Given the description of an element on the screen output the (x, y) to click on. 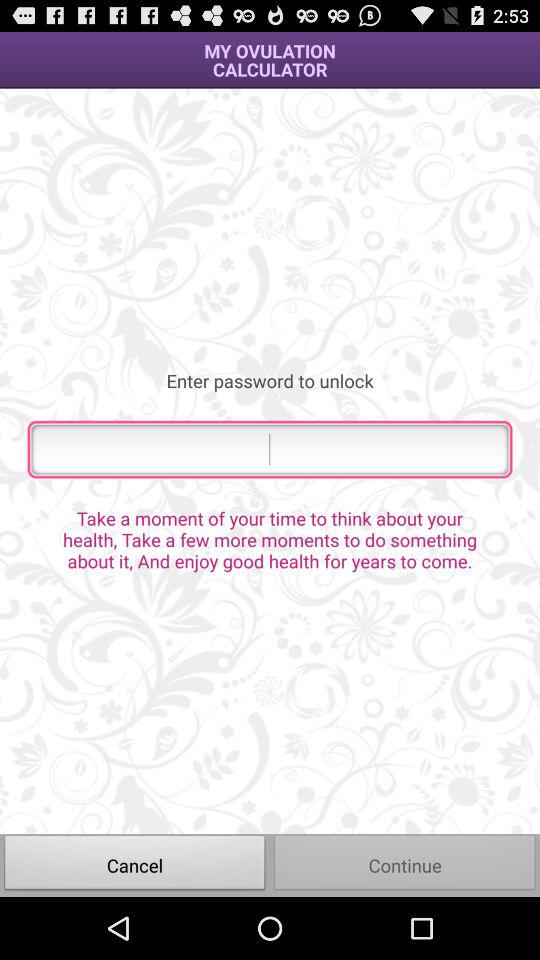
turn off icon to the right of the cancel icon (405, 864)
